Given the description of an element on the screen output the (x, y) to click on. 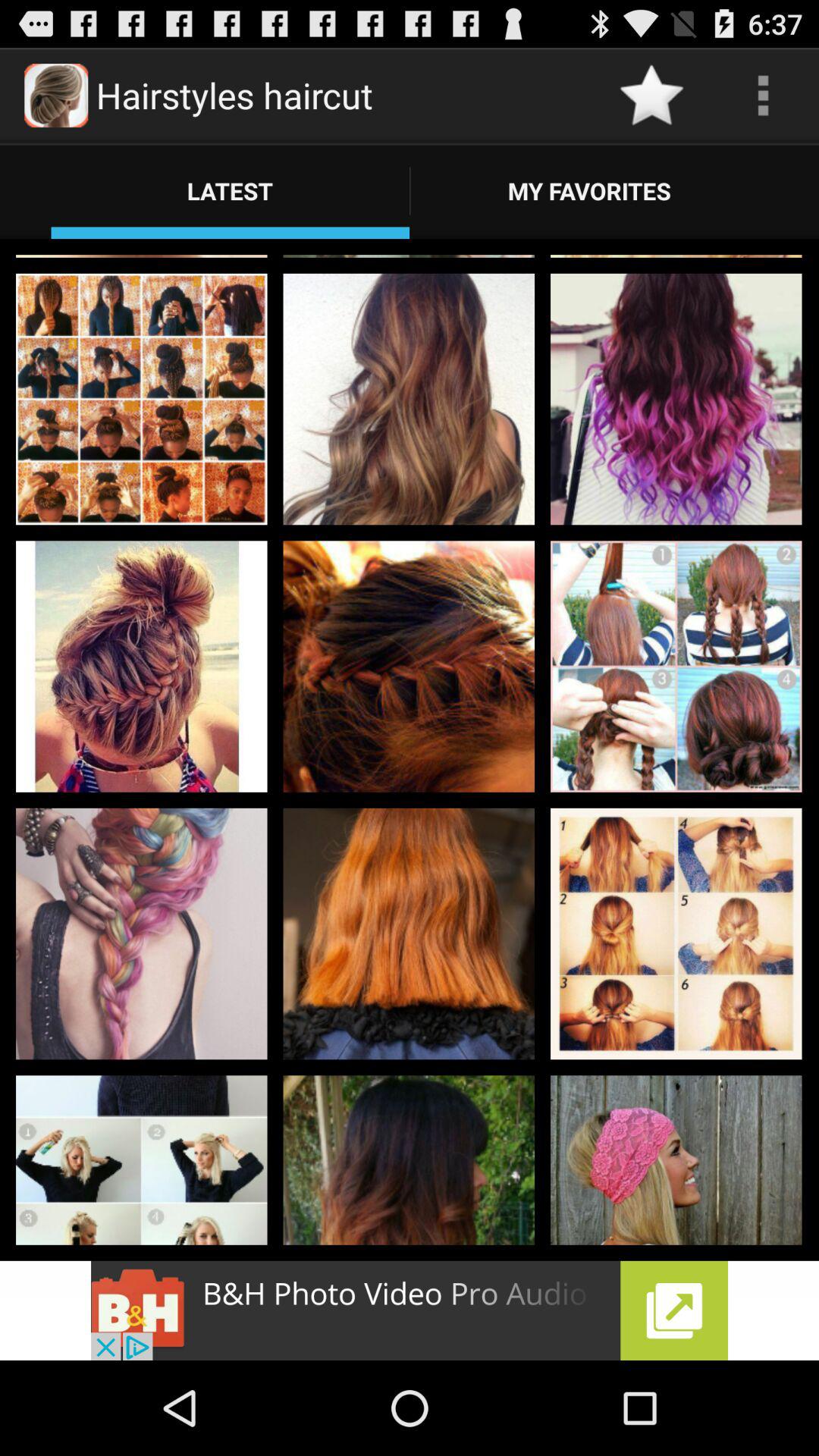
add b h photo video (409, 1310)
